Given the description of an element on the screen output the (x, y) to click on. 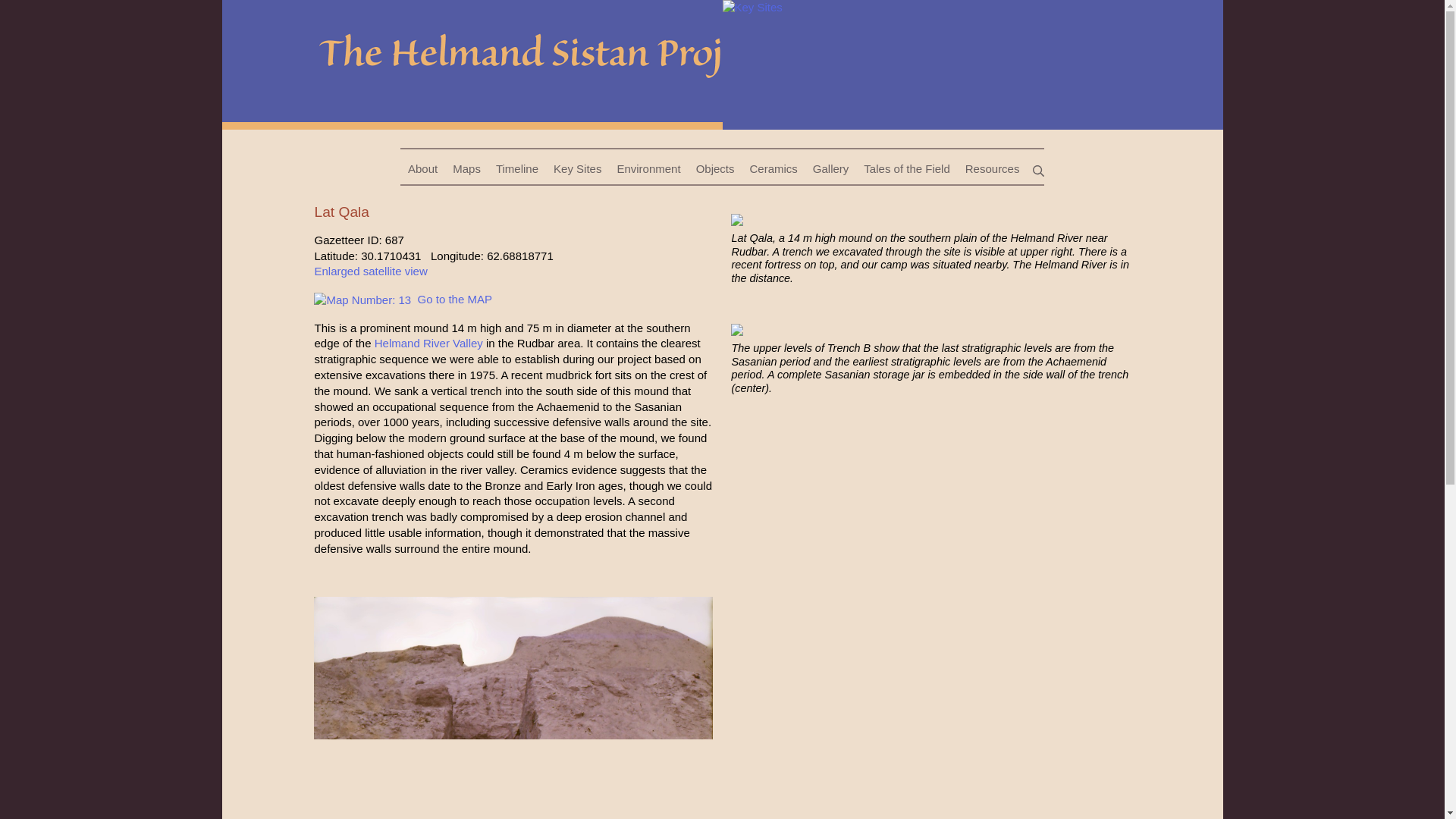
Maps (466, 169)
About (422, 169)
Ceramics (773, 169)
Home (471, 62)
Resources (992, 169)
Gallery (831, 169)
Environment (647, 169)
Lat Qala (972, 62)
Key Sites (577, 169)
Timeline (516, 169)
